Given the description of an element on the screen output the (x, y) to click on. 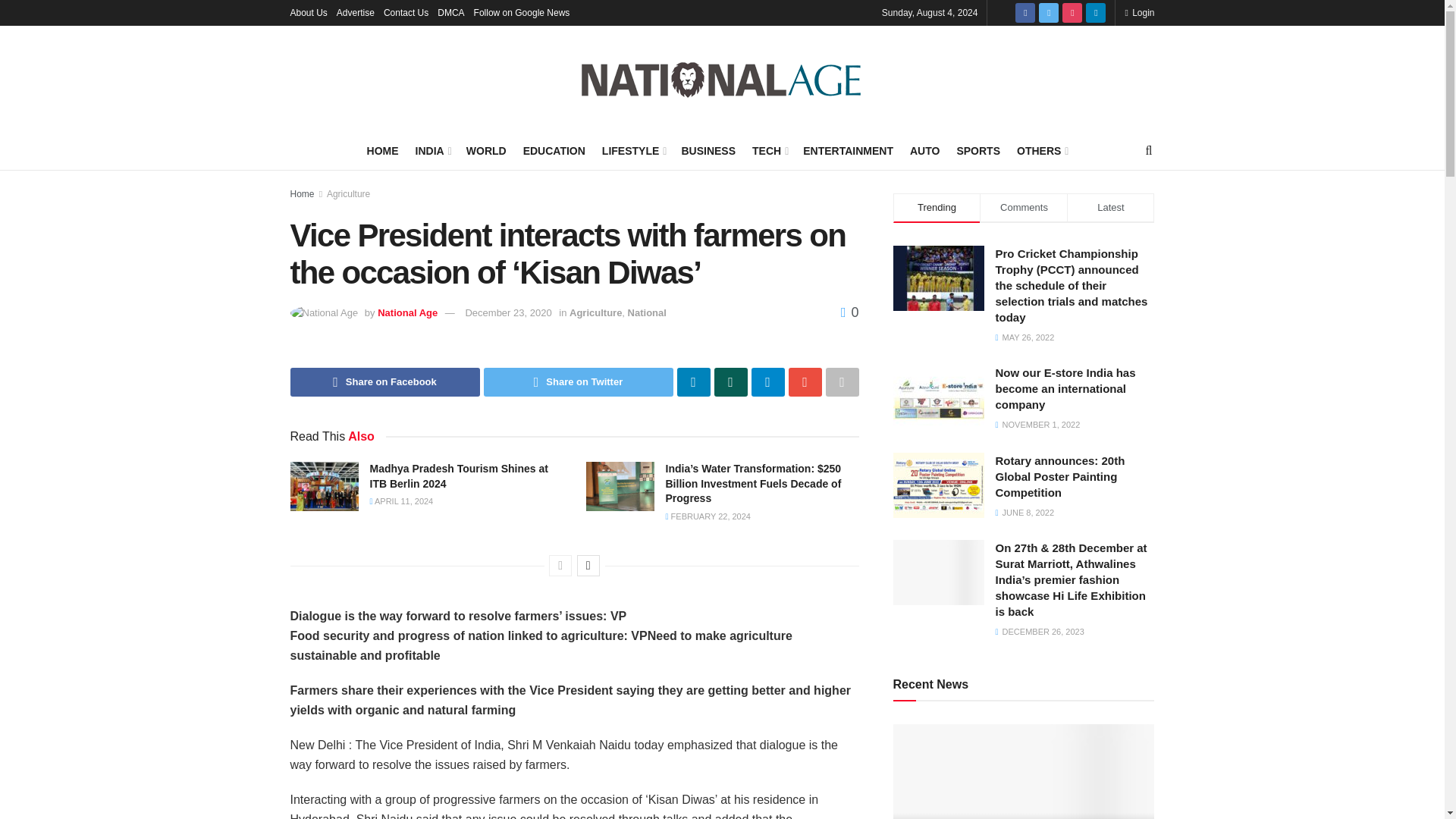
Next (587, 565)
About Us (307, 12)
Previous (560, 565)
Login (1139, 12)
Follow on Google News (522, 12)
Contact Us (406, 12)
TECH (769, 150)
ENTERTAINMENT (848, 150)
EDUCATION (553, 150)
SPORTS (978, 150)
Advertise (355, 12)
INDIA (431, 150)
WORLD (485, 150)
OTHERS (1040, 150)
LIFESTYLE (633, 150)
